Given the description of an element on the screen output the (x, y) to click on. 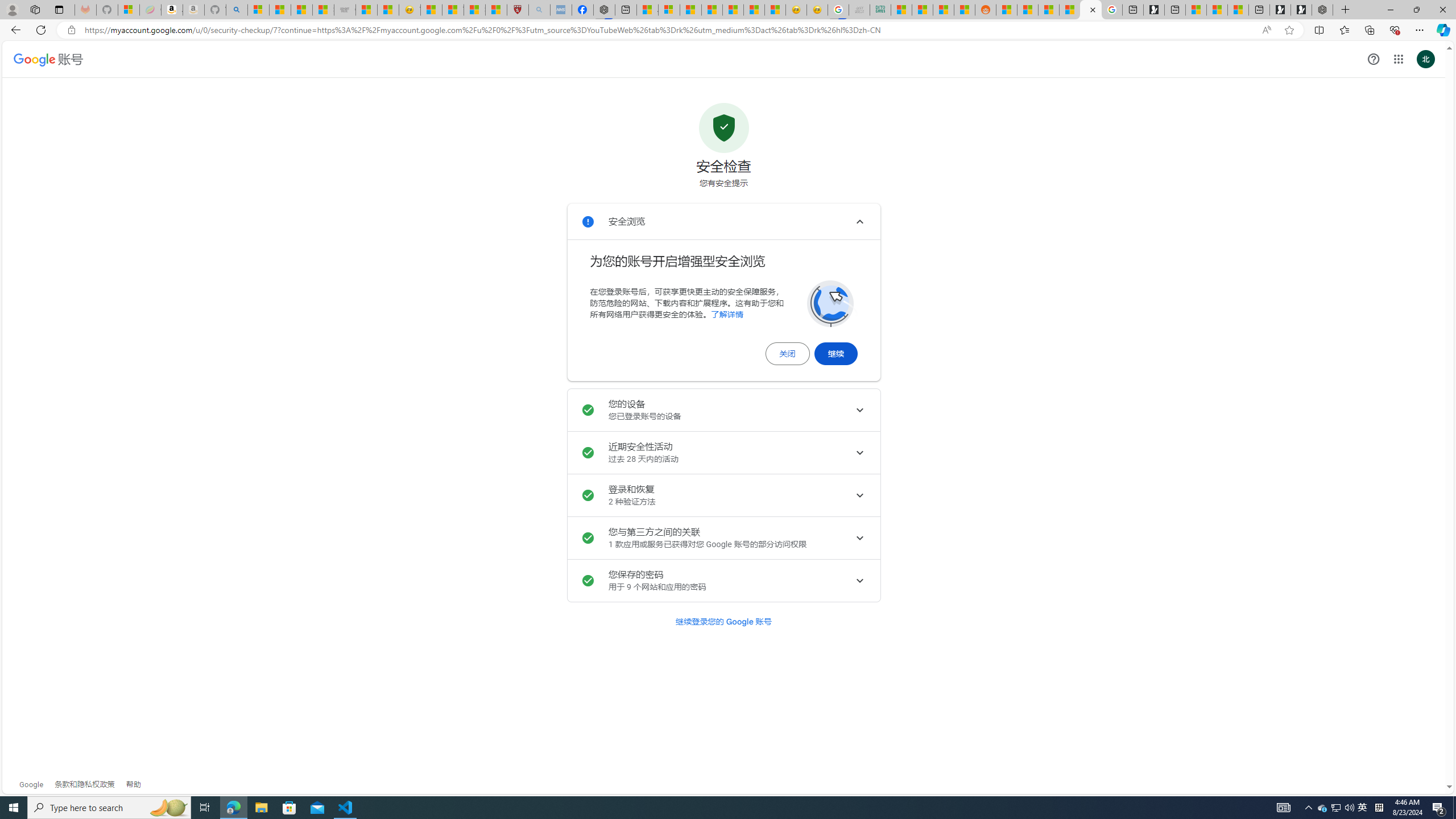
These 3 Stocks Pay You More Than 5% to Own Them (1238, 9)
